Given the description of an element on the screen output the (x, y) to click on. 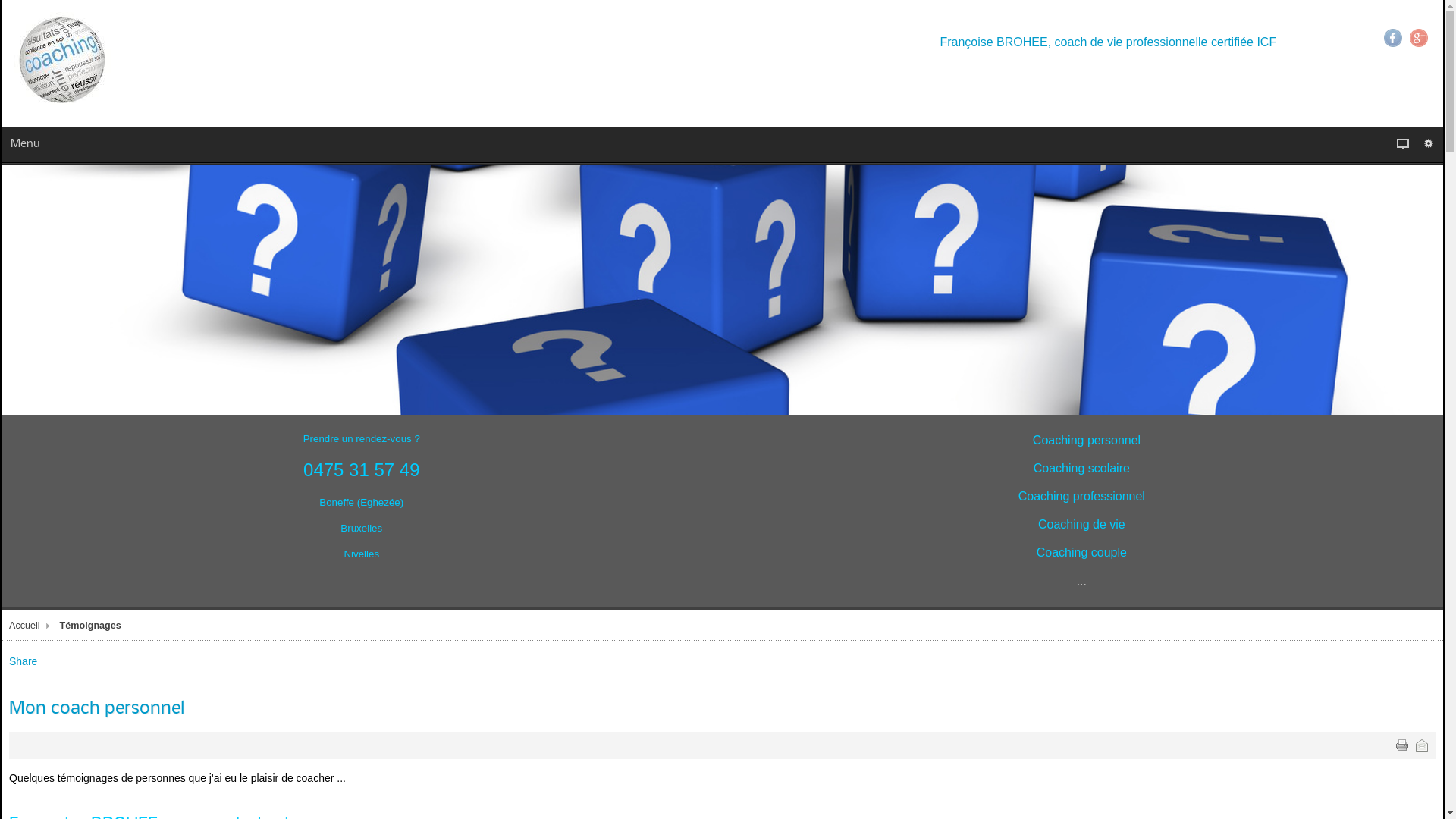
E-mail Element type: hover (1421, 745)
Accueil Element type: text (31, 625)
  Element type: text (1421, 745)
Coaching de vie Element type: text (1081, 524)
Google+ Element type: text (1418, 37)
  Element type: text (1402, 745)
Share Element type: text (23, 661)
Coaching professionnel Element type: text (1081, 496)
Coaching personnel Element type: text (1086, 440)
Facebook Element type: text (1392, 37)
Mon coach personnel Element type: text (96, 708)
Coaching couple Element type: text (1081, 552)
Imprimer Element type: hover (1402, 745)
